Given the description of an element on the screen output the (x, y) to click on. 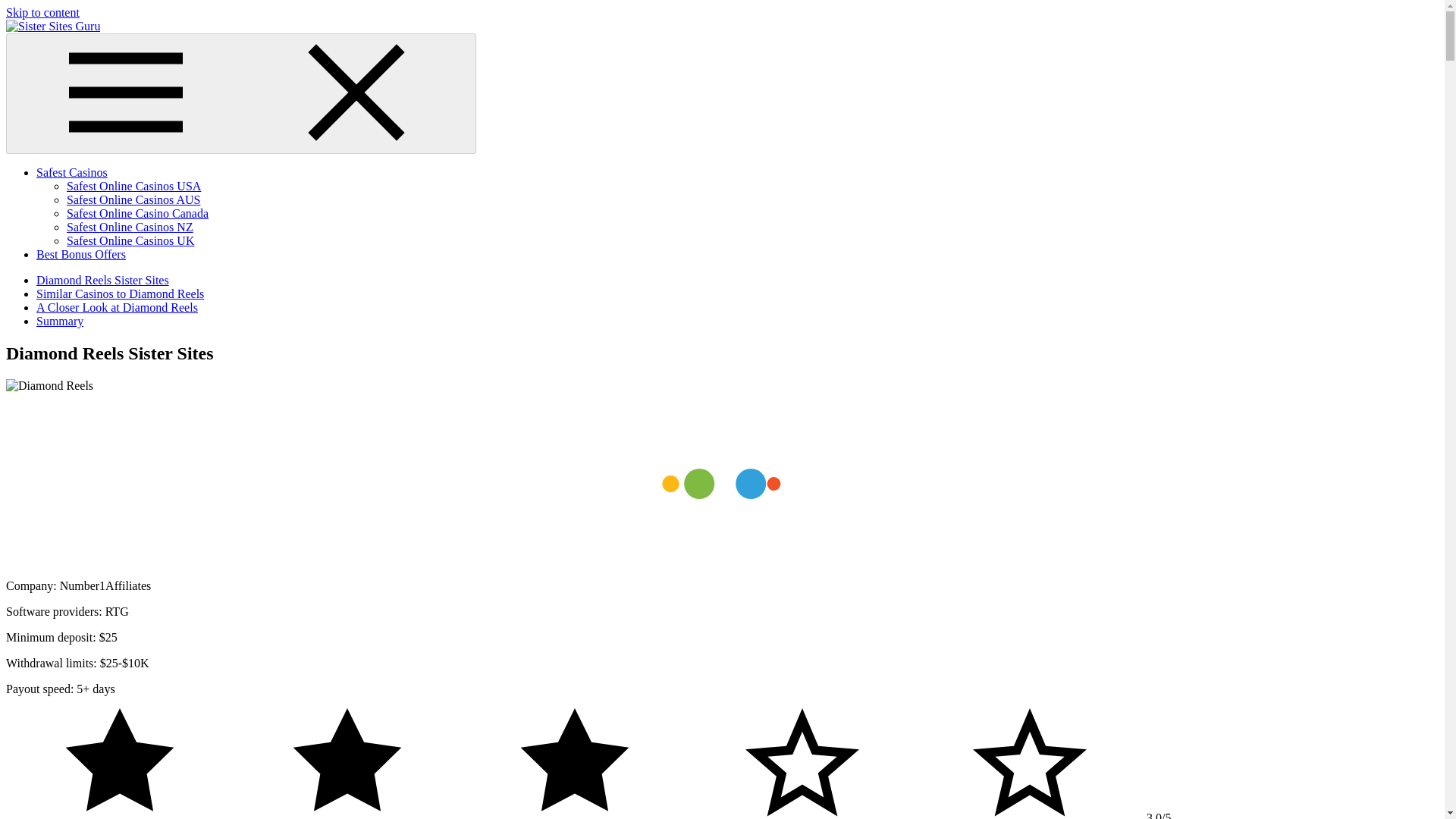
Safest Online Casino Canada (137, 213)
Safest Casinos (71, 172)
Best Bonus Offers (80, 254)
Safest Online Casinos NZ (129, 226)
Skip to content (42, 11)
A Closer Look at Diamond Reels (117, 307)
Similar Casinos to Diamond Reels (119, 293)
Safest Online Casinos UK (129, 240)
Diamond Reels Sister Sites (102, 279)
Summary (59, 320)
Safest Online Casinos AUS (133, 199)
Safest Online Casinos USA (133, 185)
